Given the description of an element on the screen output the (x, y) to click on. 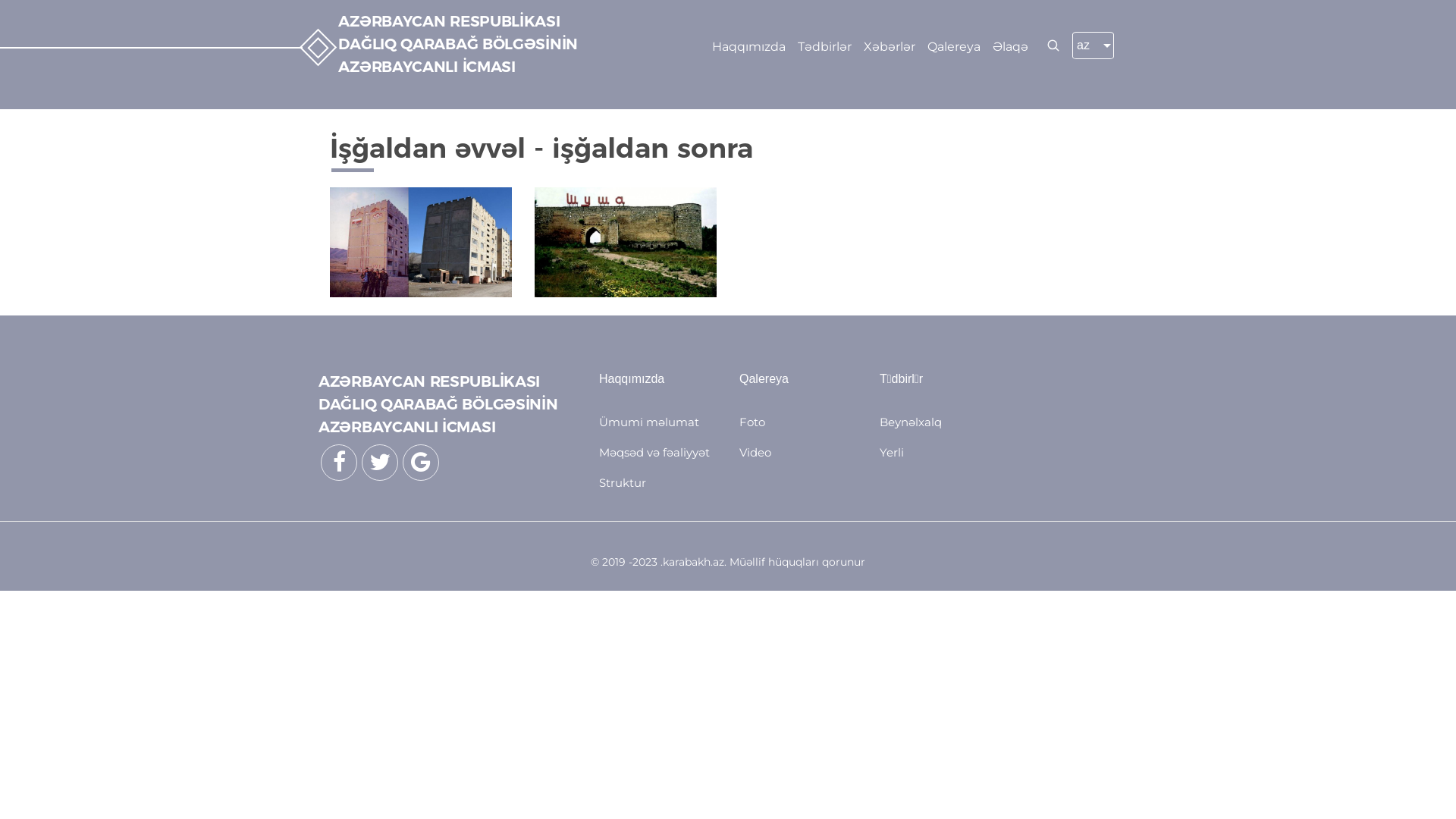
Foto Element type: text (752, 421)
Struktur Element type: text (622, 482)
Video Element type: text (755, 452)
Qalereya Element type: text (953, 46)
Yerli Element type: text (891, 452)
